Given the description of an element on the screen output the (x, y) to click on. 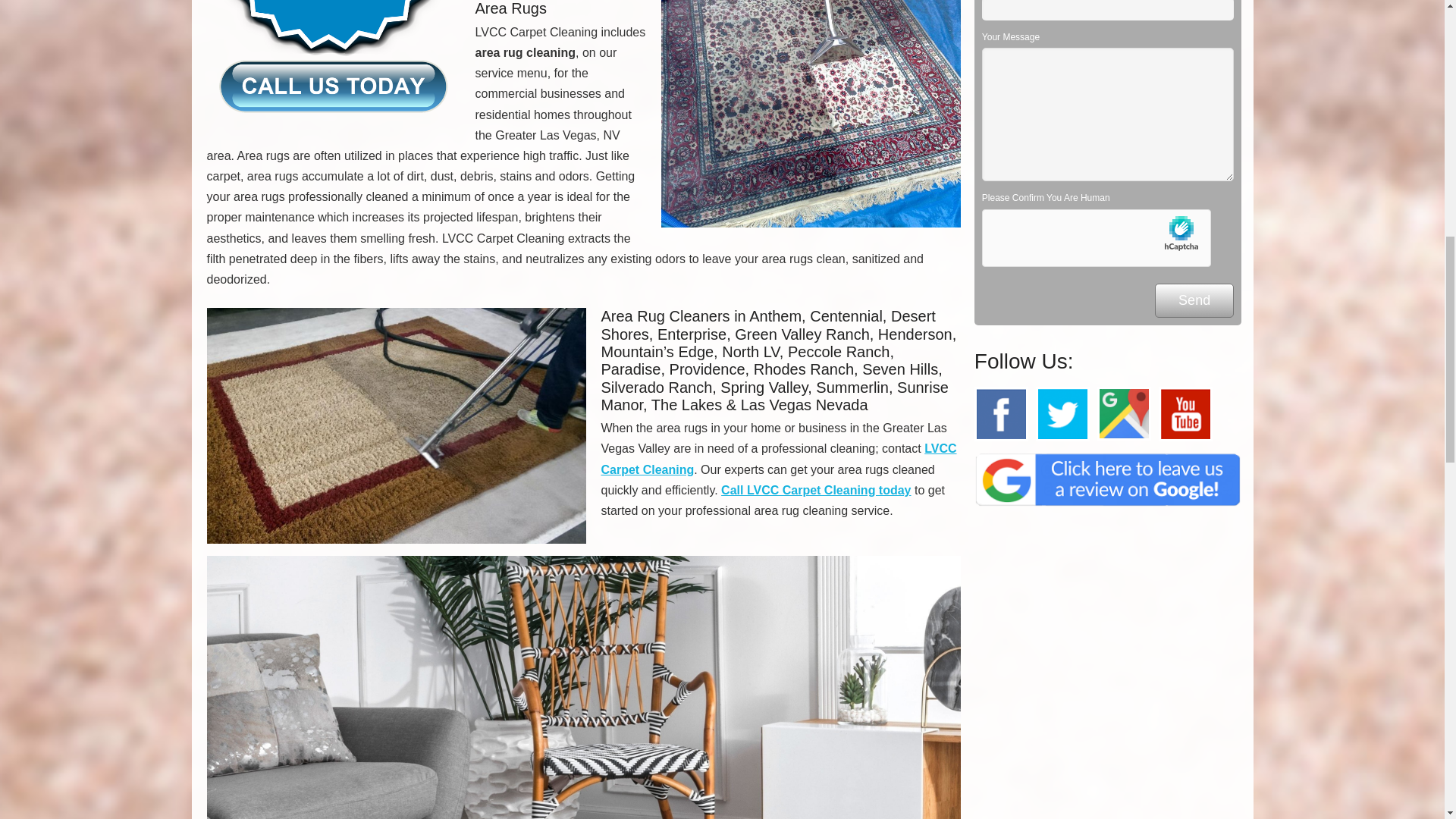
LVCC Carpet Cleaning (777, 458)
Call LVCC Carpet Cleaning today (815, 490)
Send (1193, 300)
Send (1193, 300)
